Given the description of an element on the screen output the (x, y) to click on. 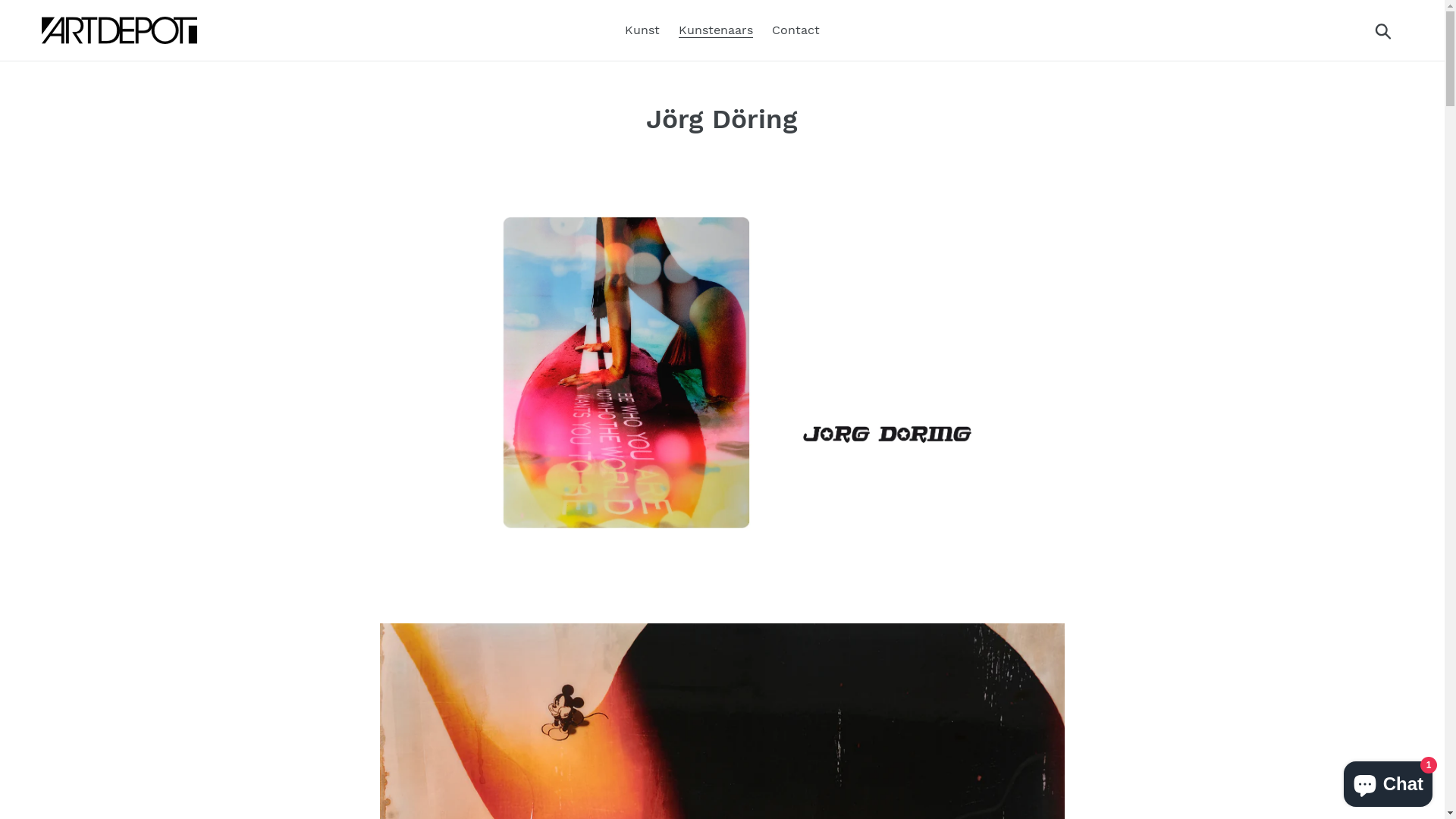
Submit Element type: text (1383, 30)
Kunstenaars Element type: text (715, 29)
Contact Element type: text (795, 29)
Kunst Element type: text (642, 29)
Shopify online store chat Element type: hover (1388, 780)
